Given the description of an element on the screen output the (x, y) to click on. 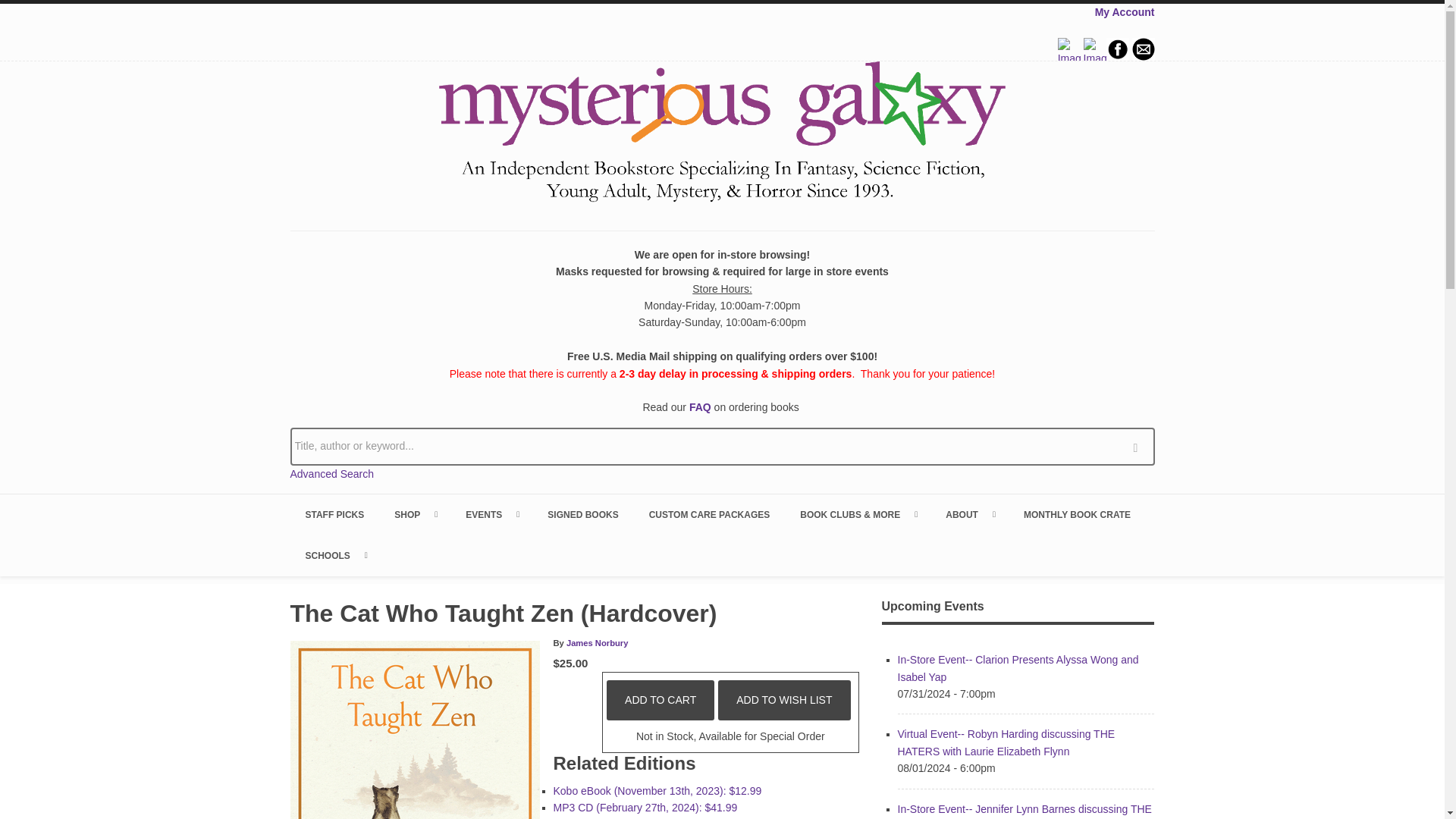
EVENTS (490, 514)
STAFF PICKS (333, 514)
Add to Wish List (783, 699)
FAQ (699, 407)
Title, author or keyword... (721, 446)
My Account (1124, 11)
SHOP (413, 514)
Advanced Search (331, 473)
Home (722, 134)
Add to Cart (660, 699)
